Given the description of an element on the screen output the (x, y) to click on. 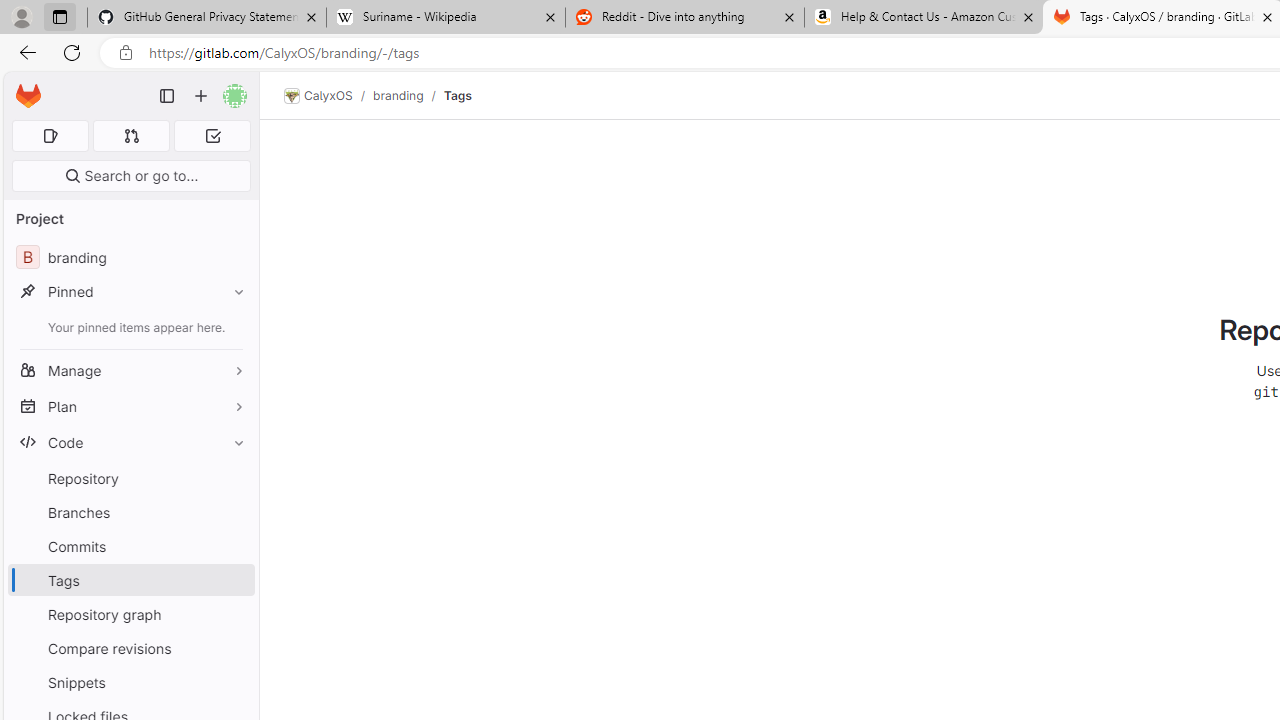
Skip to main content (23, 87)
Compare revisions (130, 648)
CalyxOS (318, 96)
Pin Repository graph (234, 614)
